Given the description of an element on the screen output the (x, y) to click on. 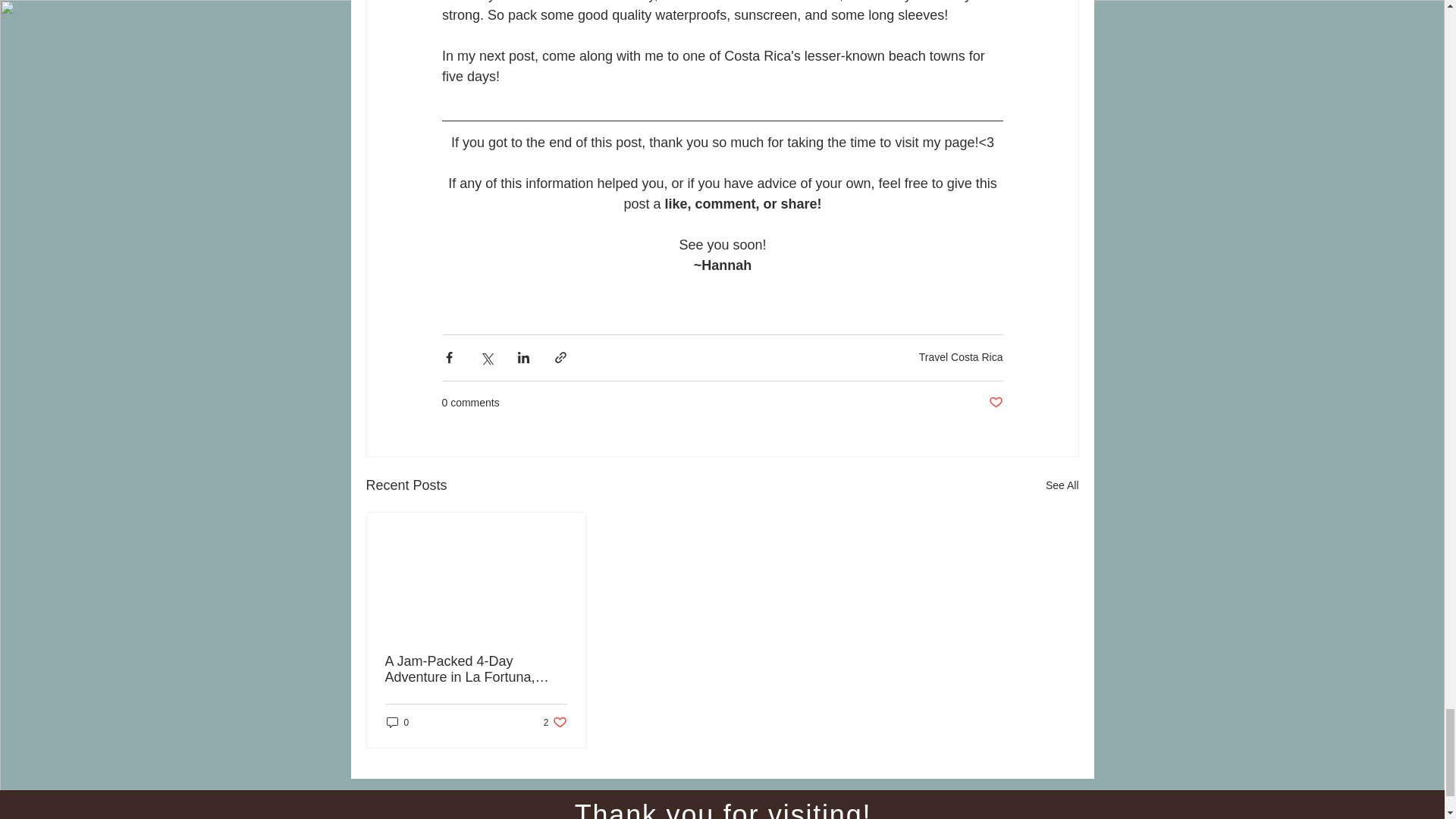
Post not marked as liked (995, 402)
Travel Costa Rica (960, 357)
